Given the description of an element on the screen output the (x, y) to click on. 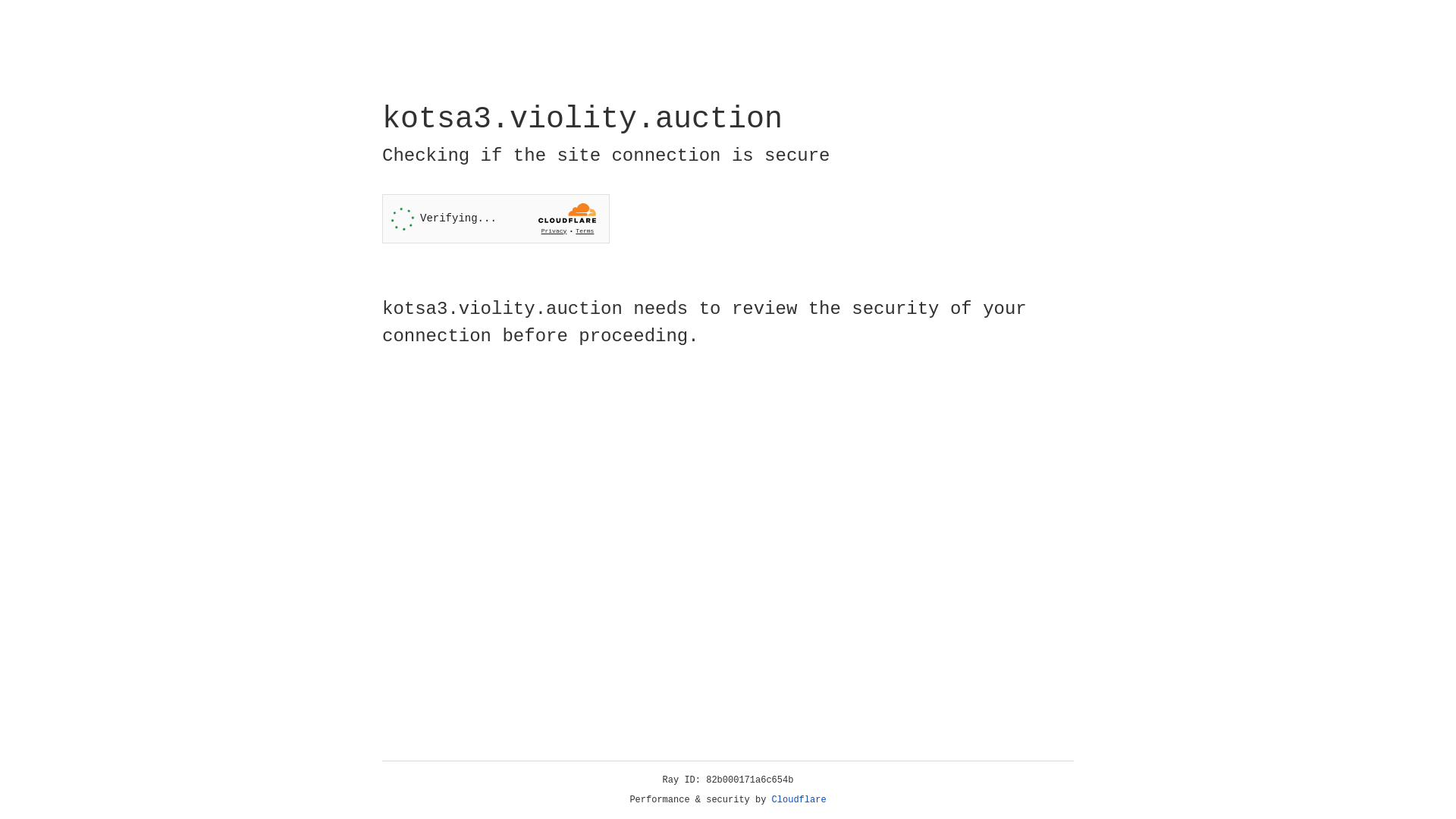
Widget containing a Cloudflare security challenge Element type: hover (495, 218)
Cloudflare Element type: text (798, 799)
